Given the description of an element on the screen output the (x, y) to click on. 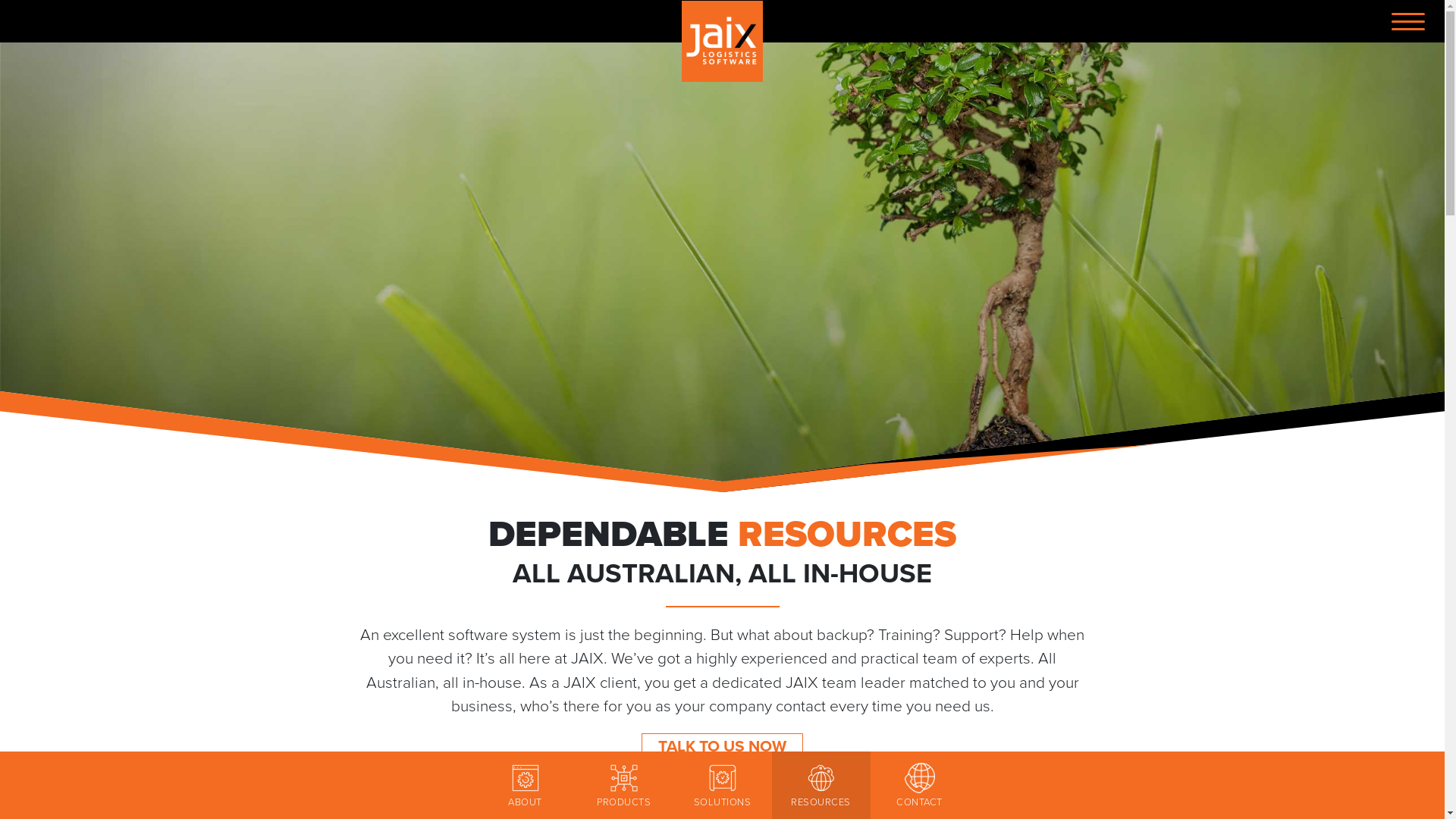
TALK TO US NOW Element type: text (722, 746)
